Given the description of an element on the screen output the (x, y) to click on. 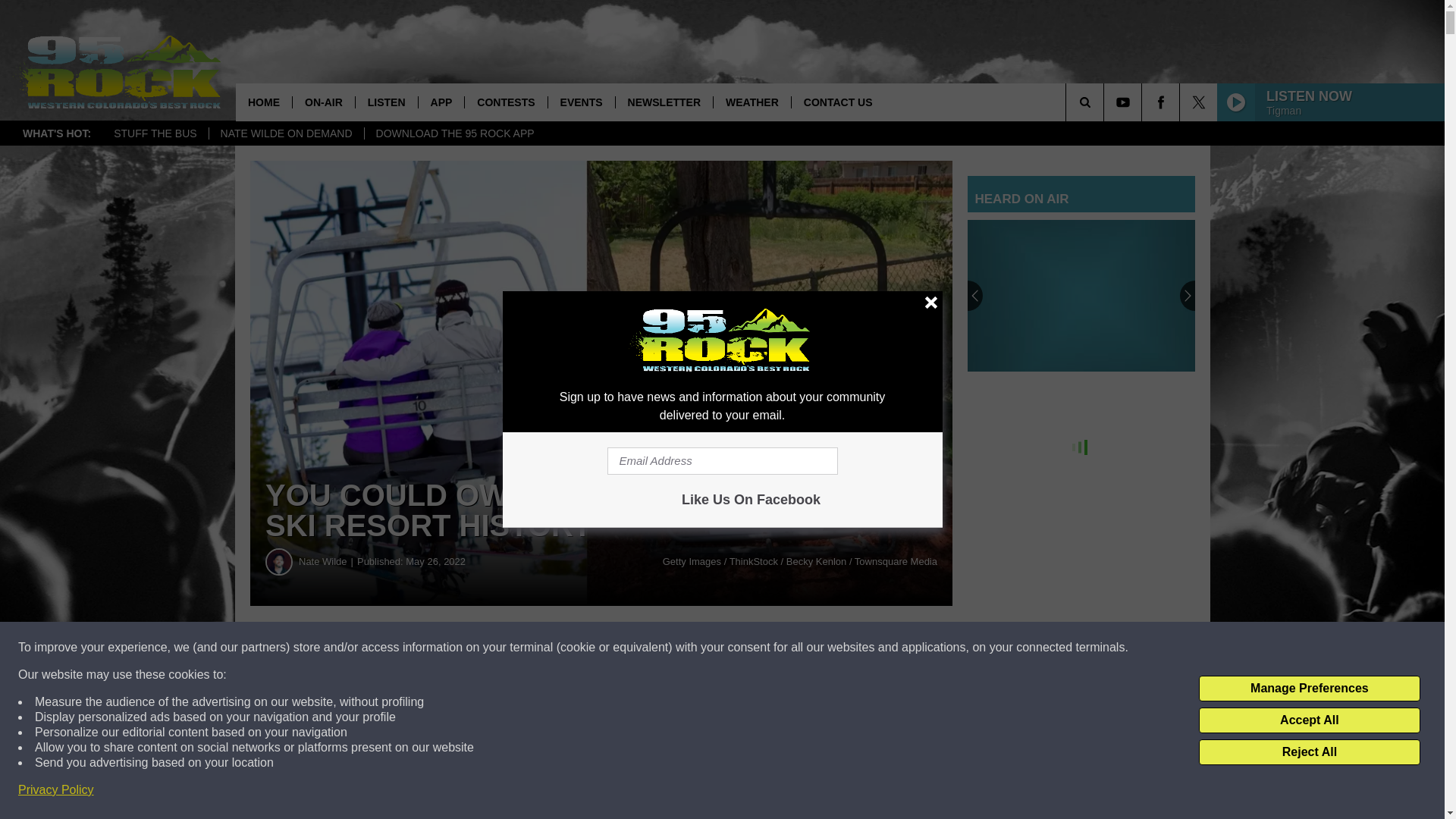
APP (440, 102)
Privacy Policy (55, 789)
Share on Facebook (460, 647)
NATE WILDE ON DEMAND (286, 133)
Reject All (1309, 751)
Email Address (722, 461)
STUFF THE BUS (154, 133)
WHAT'S HOT: (56, 133)
Manage Preferences (1309, 688)
Share on Twitter (741, 647)
DOWNLOAD THE 95 ROCK APP (455, 133)
HOME (263, 102)
CONTESTS (505, 102)
LISTEN (386, 102)
Accept All (1309, 720)
